Given the description of an element on the screen output the (x, y) to click on. 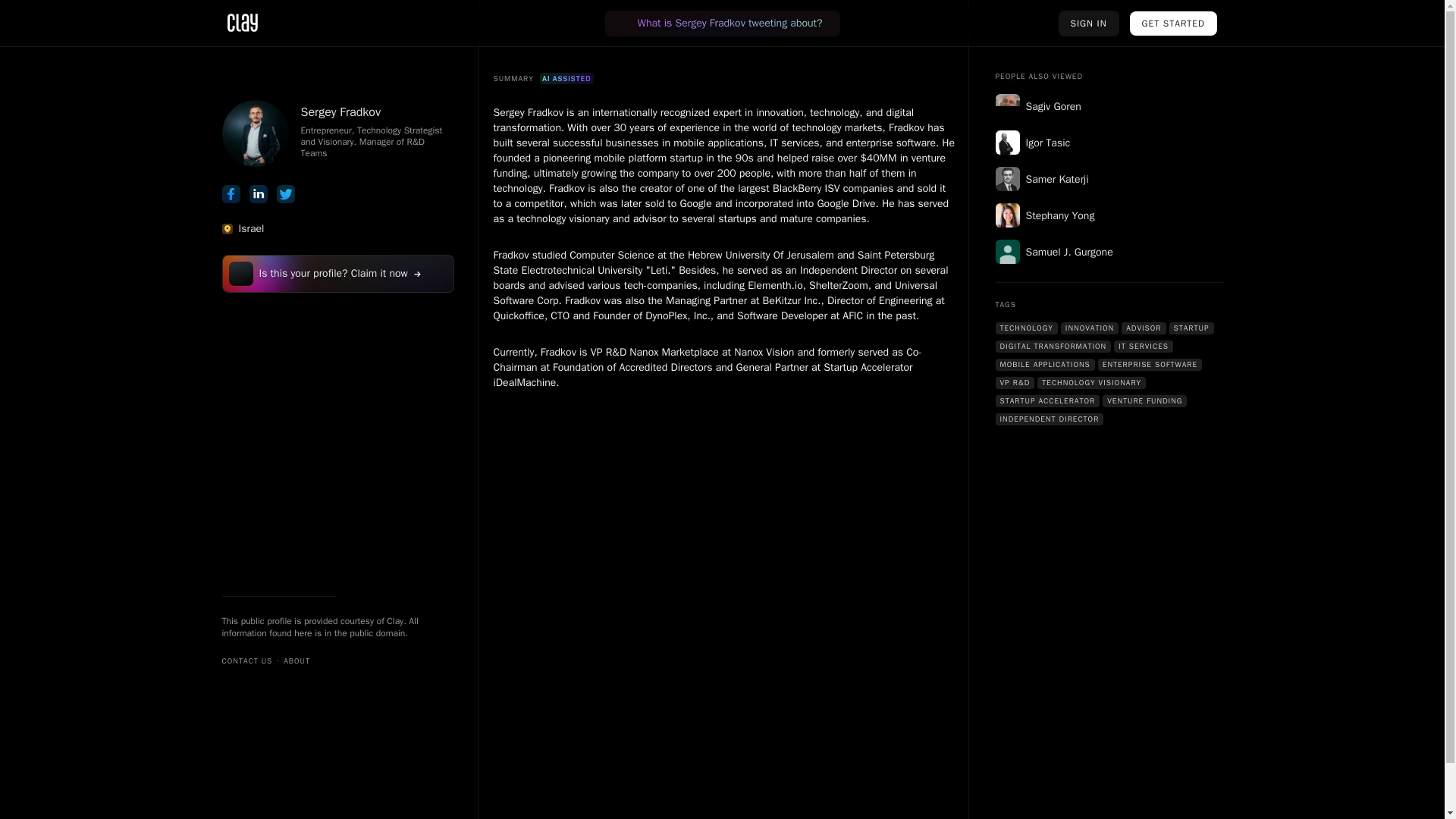
CONTACT US (246, 660)
INDEPENDENT DIRECTOR (1048, 419)
INNOVATION (1089, 328)
TECHNOLOGY (1025, 328)
IT SERVICES (1143, 346)
Sagiv Goren (1108, 105)
ADVISOR (1143, 328)
Samer Katerji (1108, 178)
ABOUT (296, 660)
SIGN IN (1088, 23)
